Given the description of an element on the screen output the (x, y) to click on. 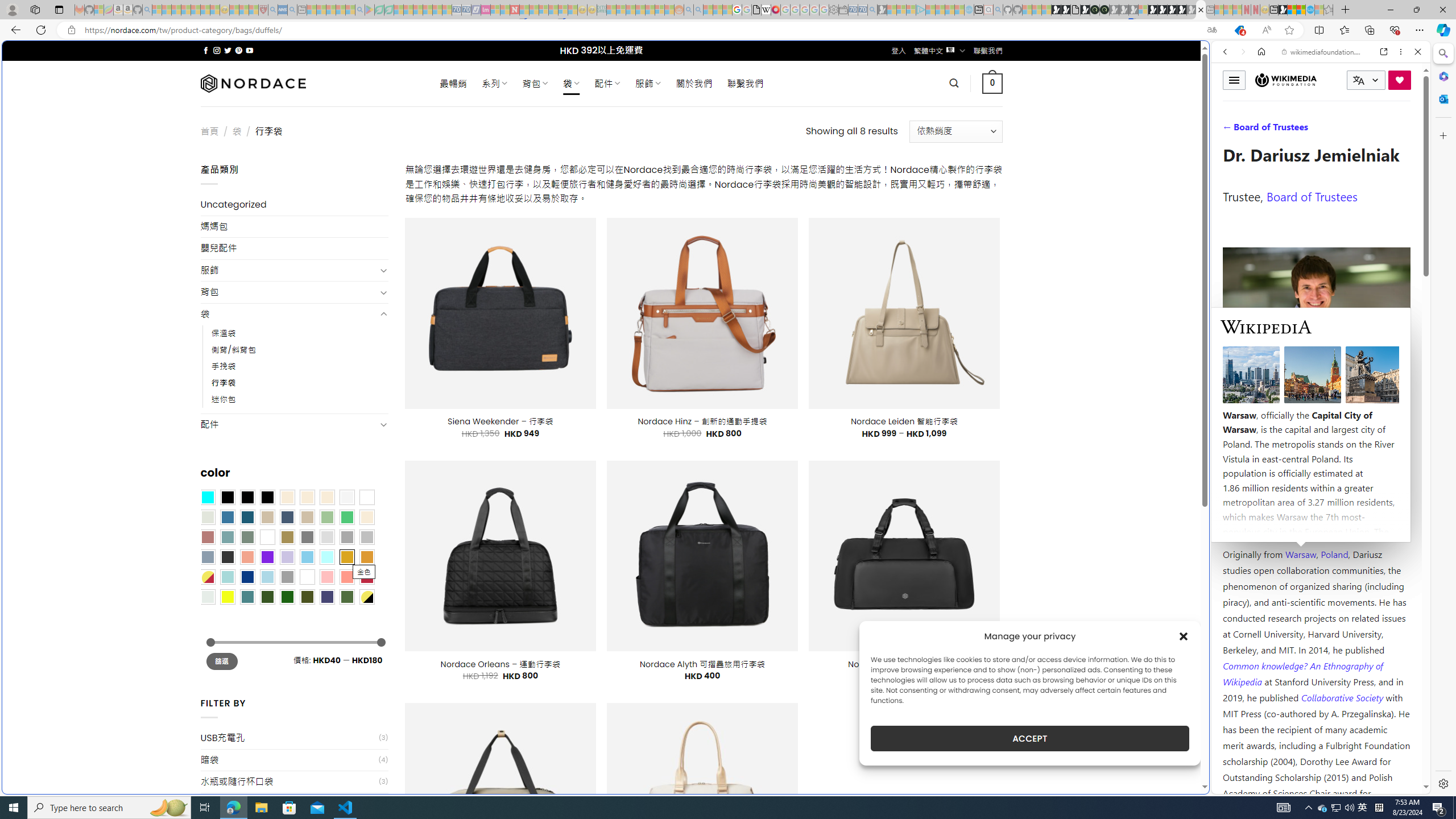
utah sues federal government - Search (922, 389)
Dull Nickle (207, 596)
 0  (992, 83)
Tabs you've opened (885, 151)
